Given the description of an element on the screen output the (x, y) to click on. 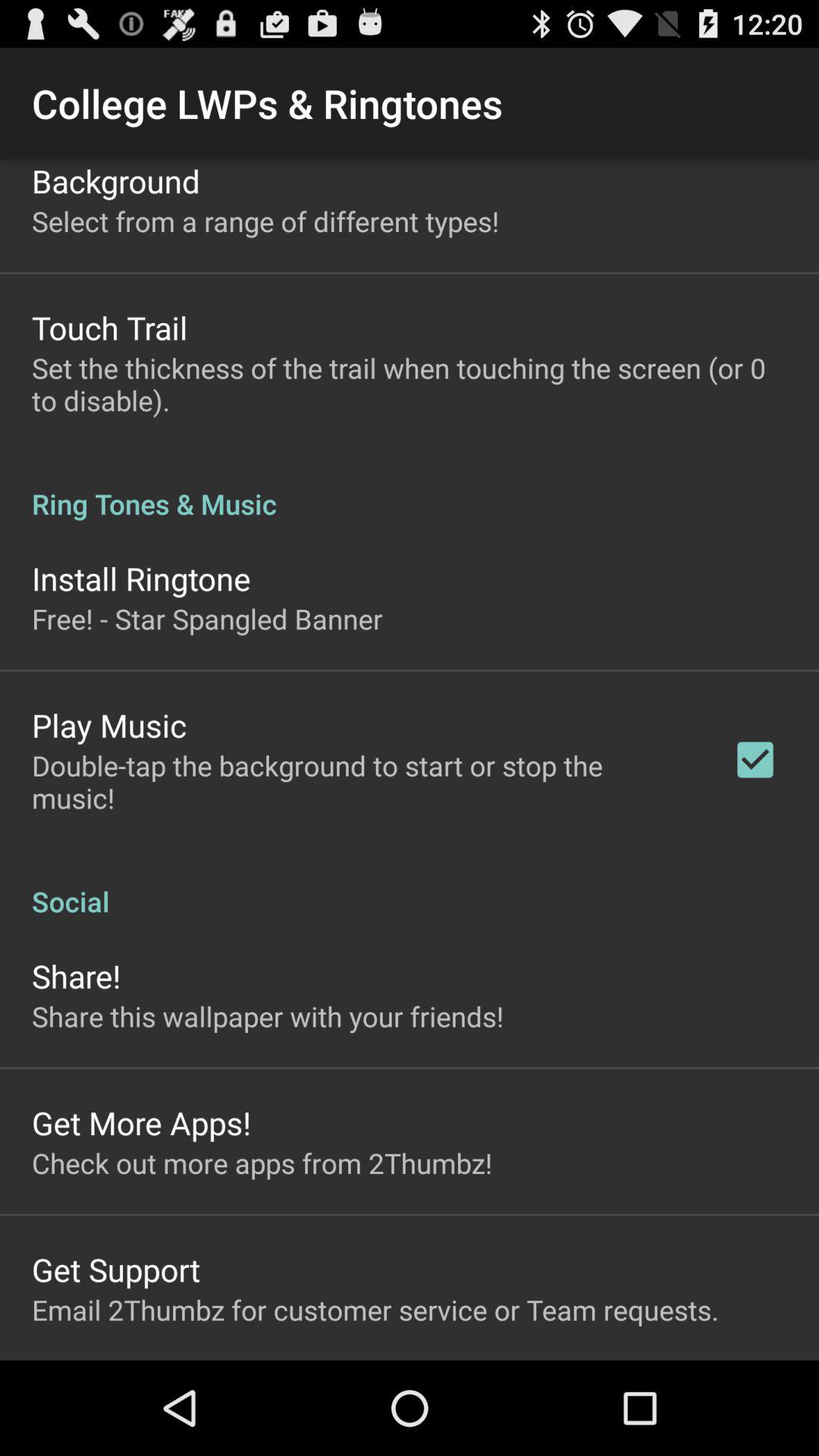
swipe until the share this wallpaper (267, 1016)
